Given the description of an element on the screen output the (x, y) to click on. 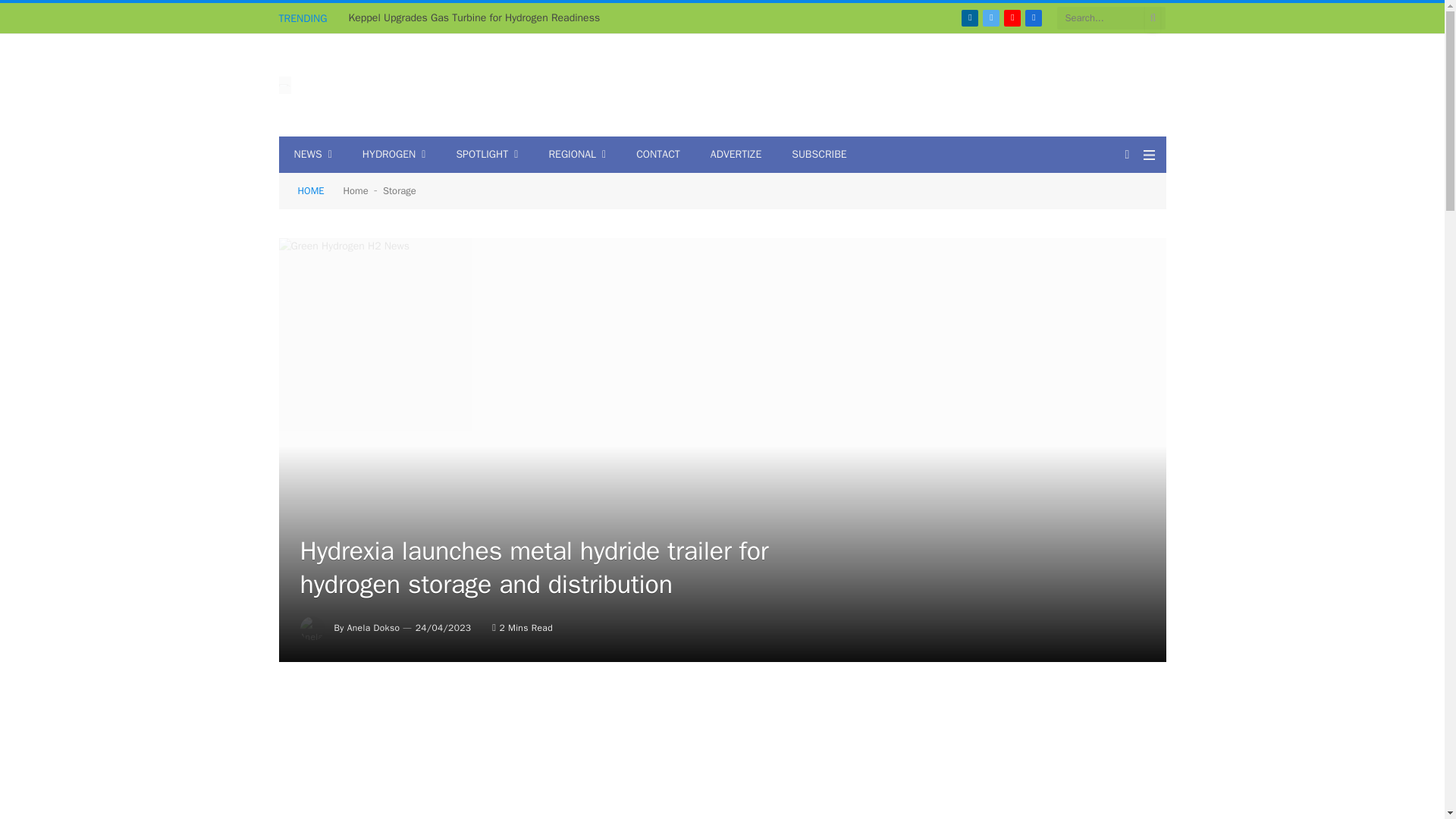
LinkedIn (969, 17)
Switch to Dark Design - easier on eyes. (1127, 154)
Green Hydrogen News (285, 85)
Facebook (1033, 17)
Keppel Upgrades Gas Turbine for Hydrogen Readiness (478, 18)
YouTube (1012, 17)
Posts by Anela Dokso (373, 627)
HYDROGEN (394, 154)
NEWS (313, 154)
